Given the description of an element on the screen output the (x, y) to click on. 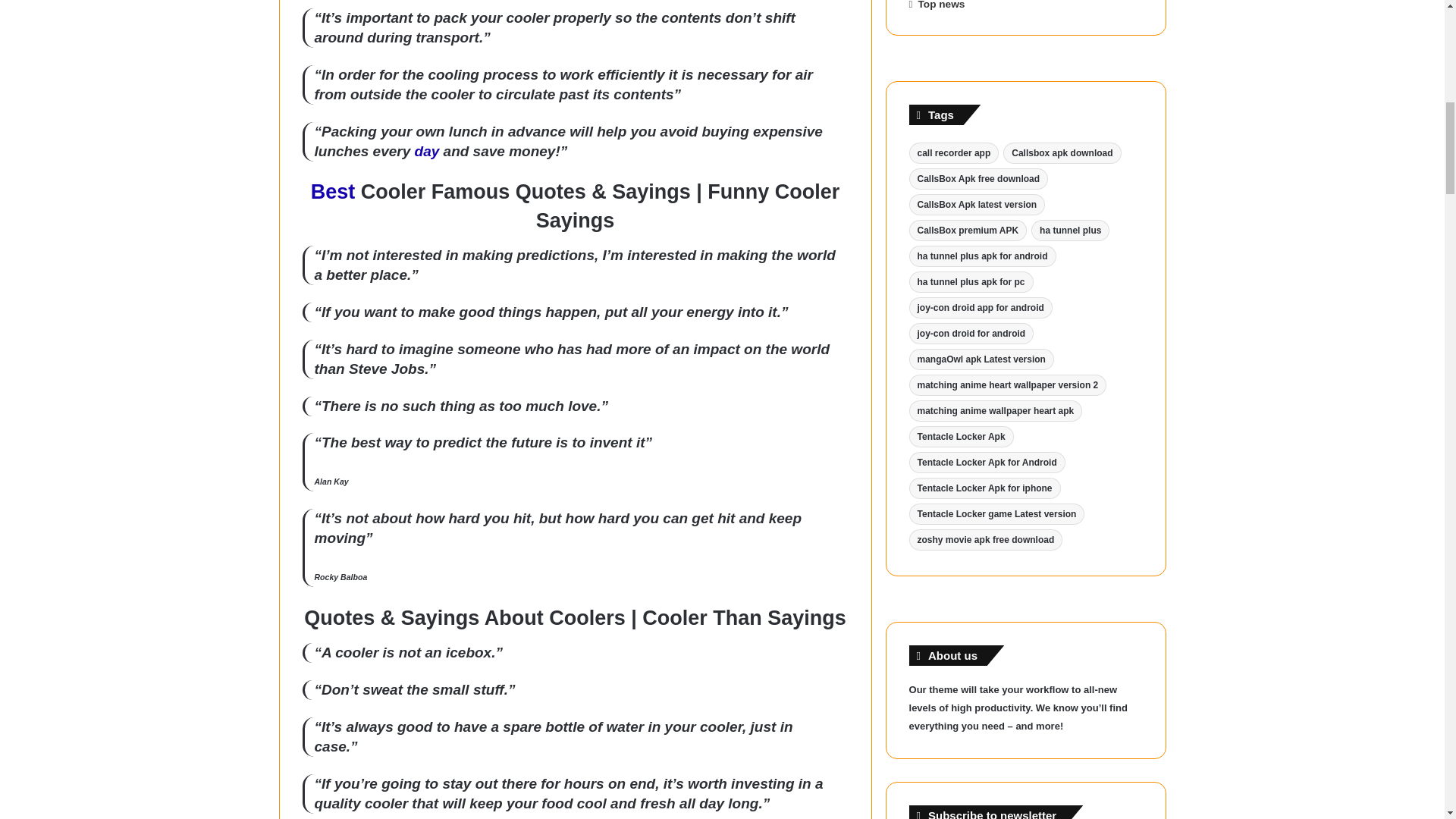
day (426, 150)
Best (333, 191)
